Given the description of an element on the screen output the (x, y) to click on. 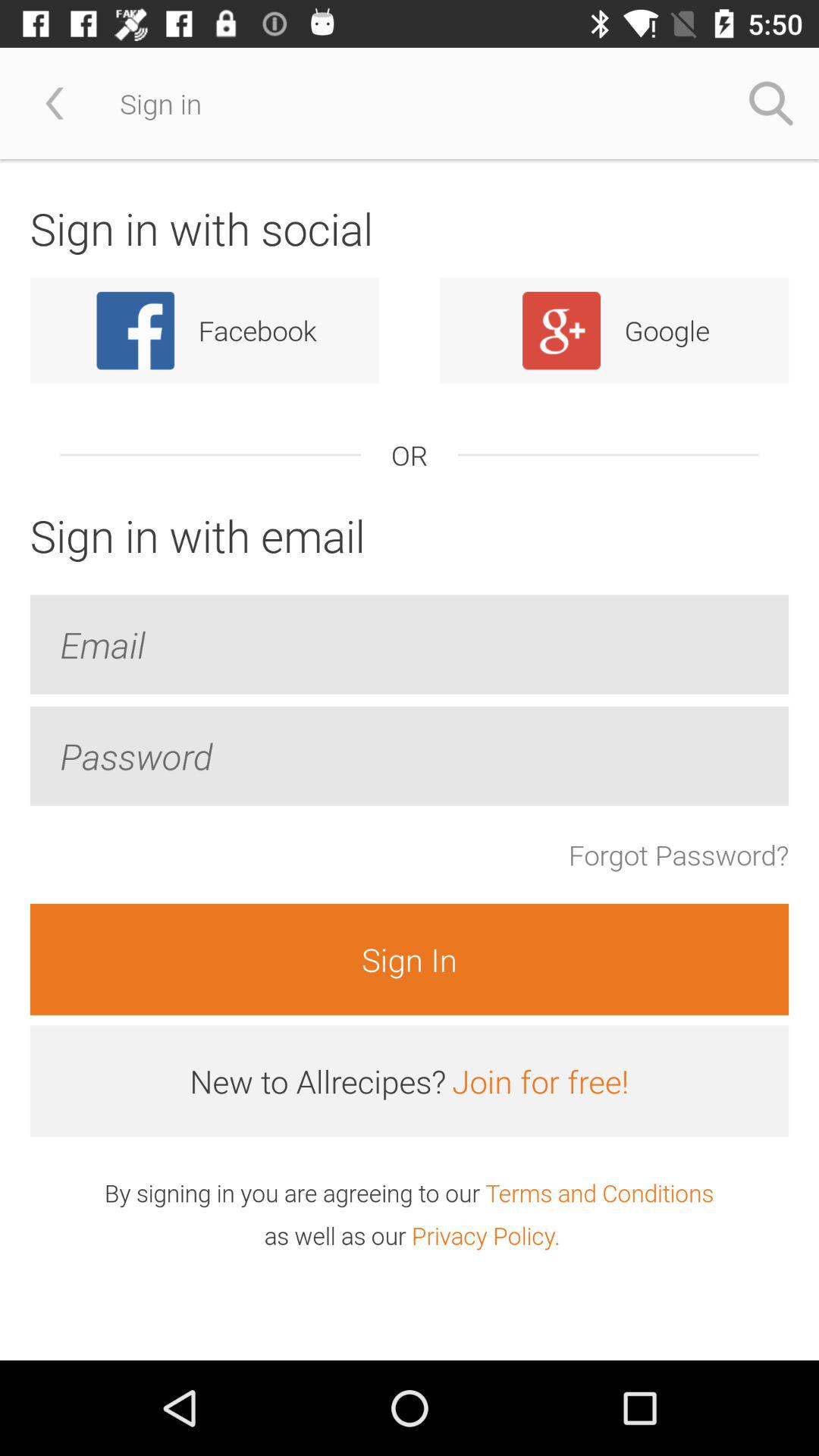
flip to join for free! (540, 1080)
